Given the description of an element on the screen output the (x, y) to click on. 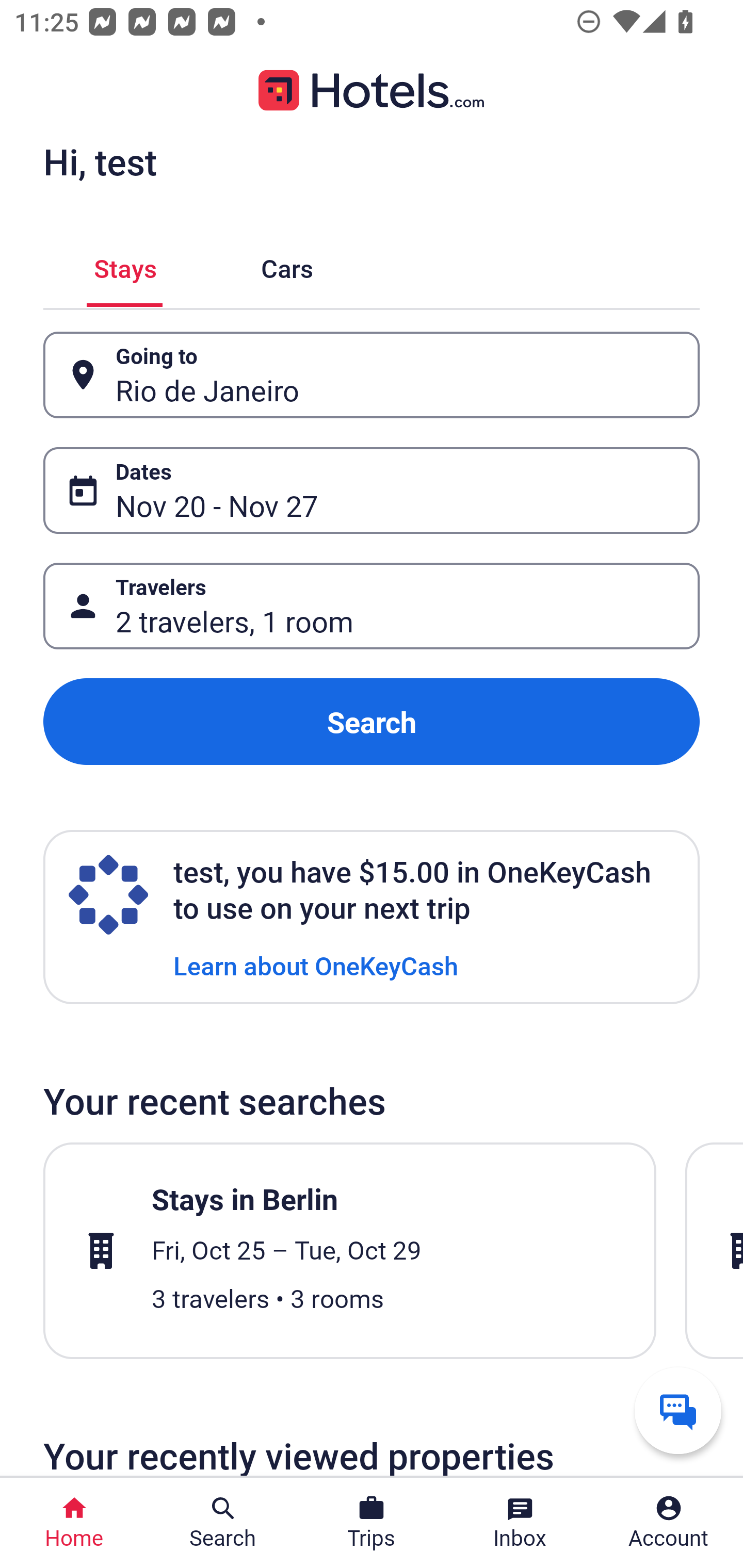
Hi, test (99, 161)
Cars (286, 265)
Going to Button Rio de Janeiro (371, 375)
Dates Button Nov 20 - Nov 27 (371, 489)
Travelers Button 2 travelers, 1 room (371, 605)
Search (371, 721)
Learn about OneKeyCash Learn about OneKeyCash Link (315, 964)
Get help from a virtual agent (677, 1410)
Search Search Button (222, 1522)
Trips Trips Button (371, 1522)
Inbox Inbox Button (519, 1522)
Account Profile. Button (668, 1522)
